Given the description of an element on the screen output the (x, y) to click on. 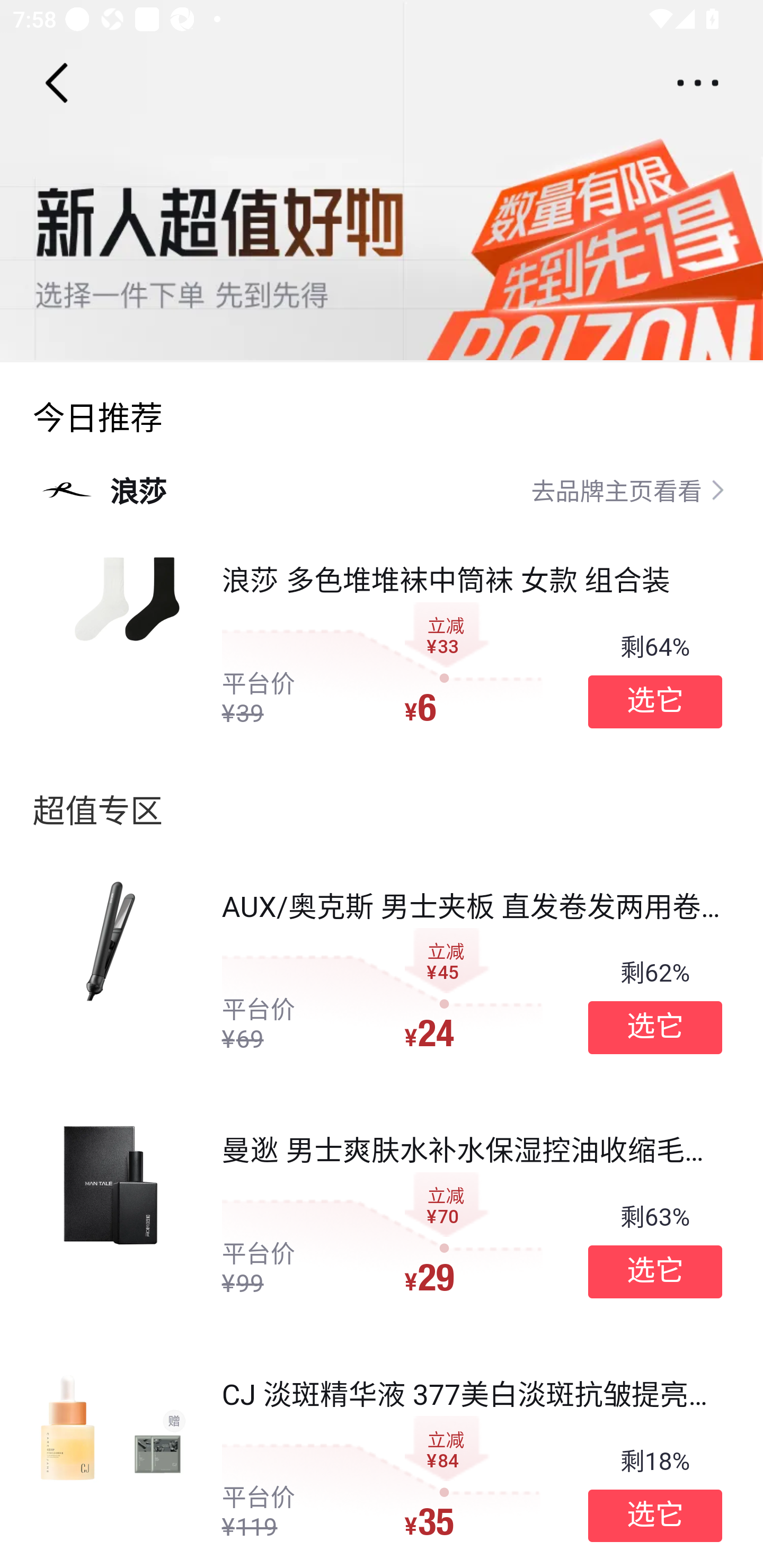
浪莎去品牌主页看看 (381, 489)
浪莎 多色堆堆袜中筒袜 女款 组合装 平台价 ¥ 39 立减¥33 ¥ 6 剩64% 选它 (397, 646)
选它 (654, 701)
选它 (654, 1027)
选它 (654, 1271)
选它 (654, 1515)
